Given the description of an element on the screen output the (x, y) to click on. 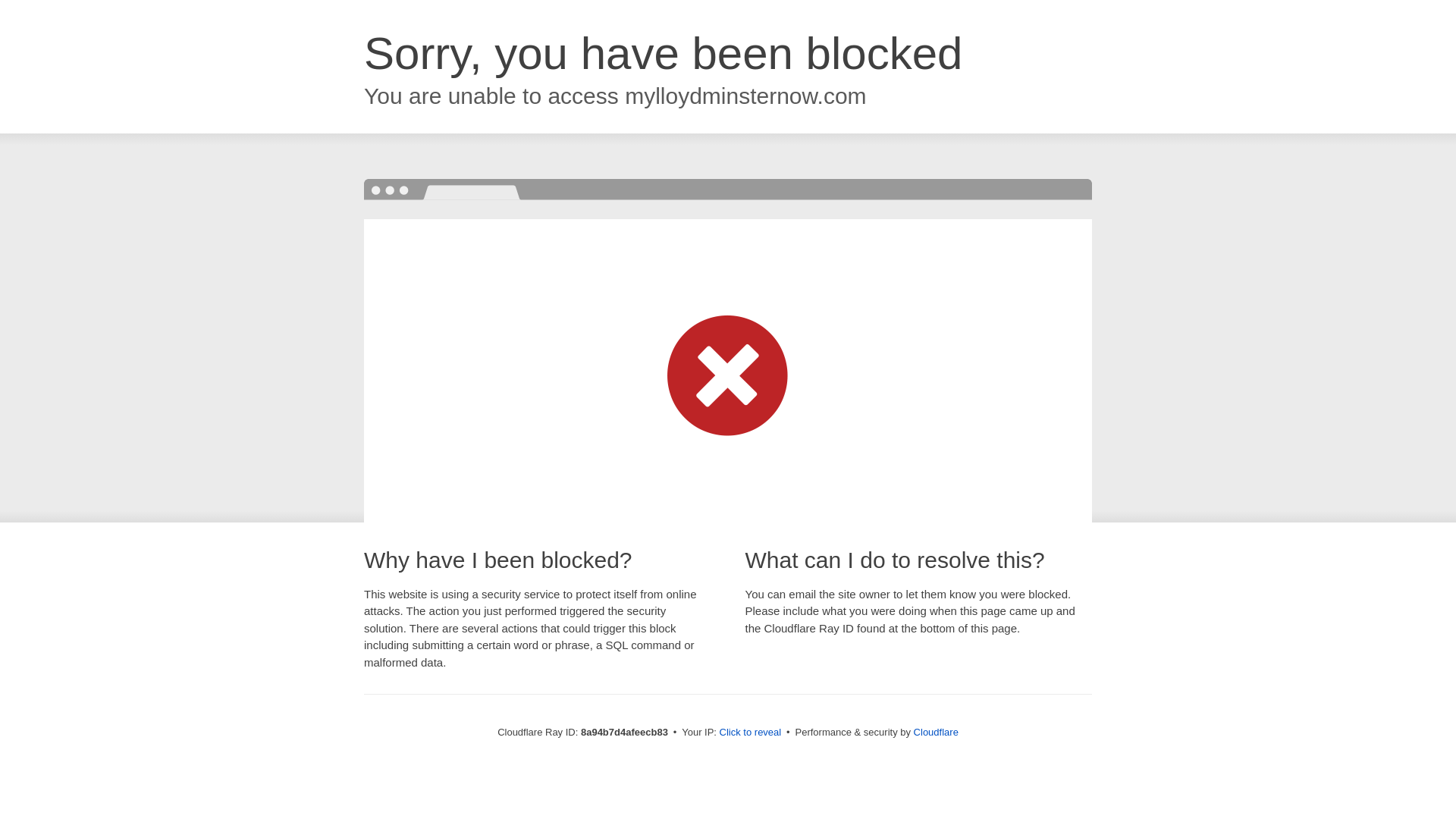
Cloudflare (936, 731)
Click to reveal (750, 732)
